Given the description of an element on the screen output the (x, y) to click on. 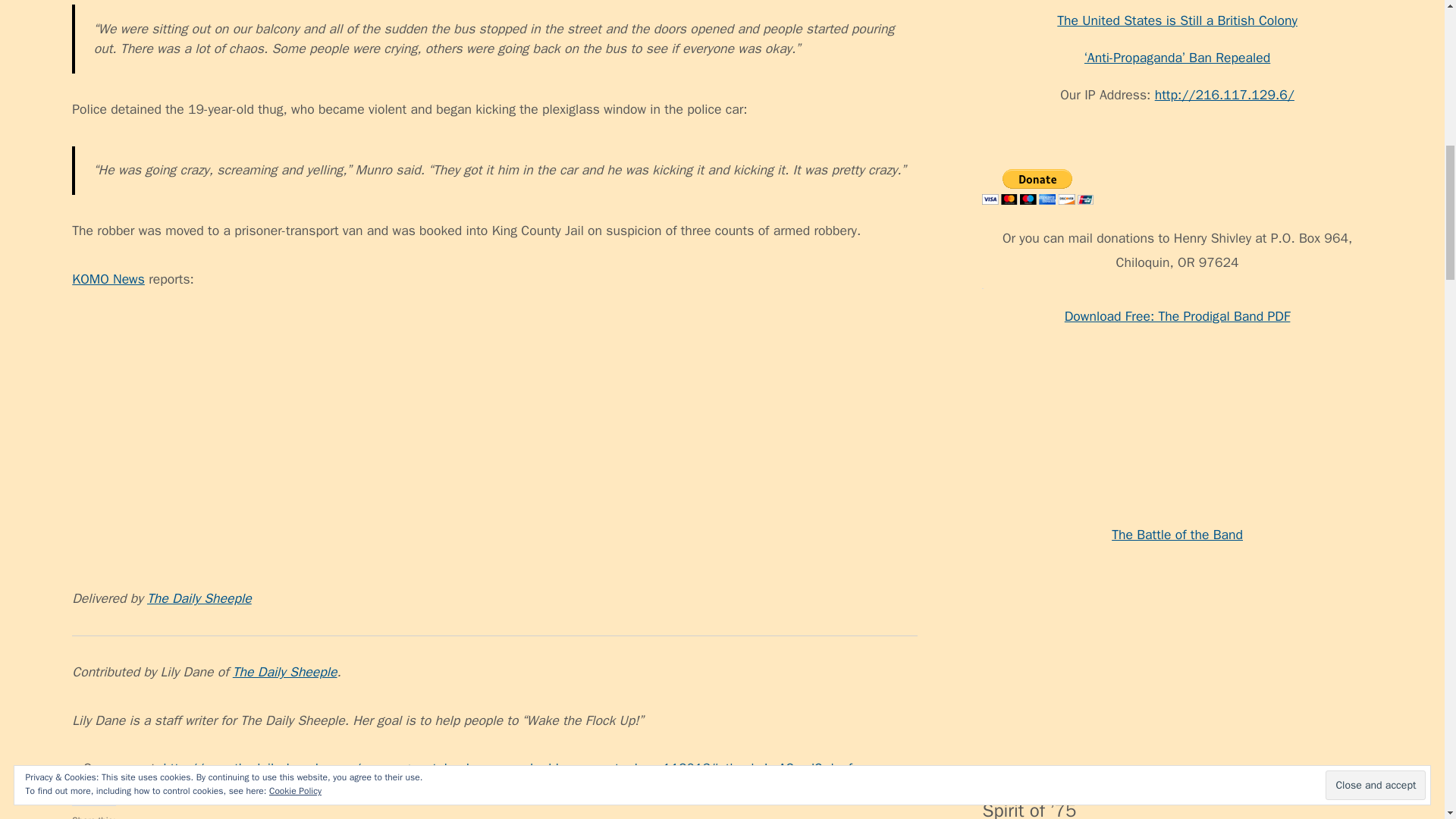
The Daily Sheeple (199, 597)
porno (997, 515)
The Daily Sheeple (284, 671)
KOMO News (107, 279)
